Given the description of an element on the screen output the (x, y) to click on. 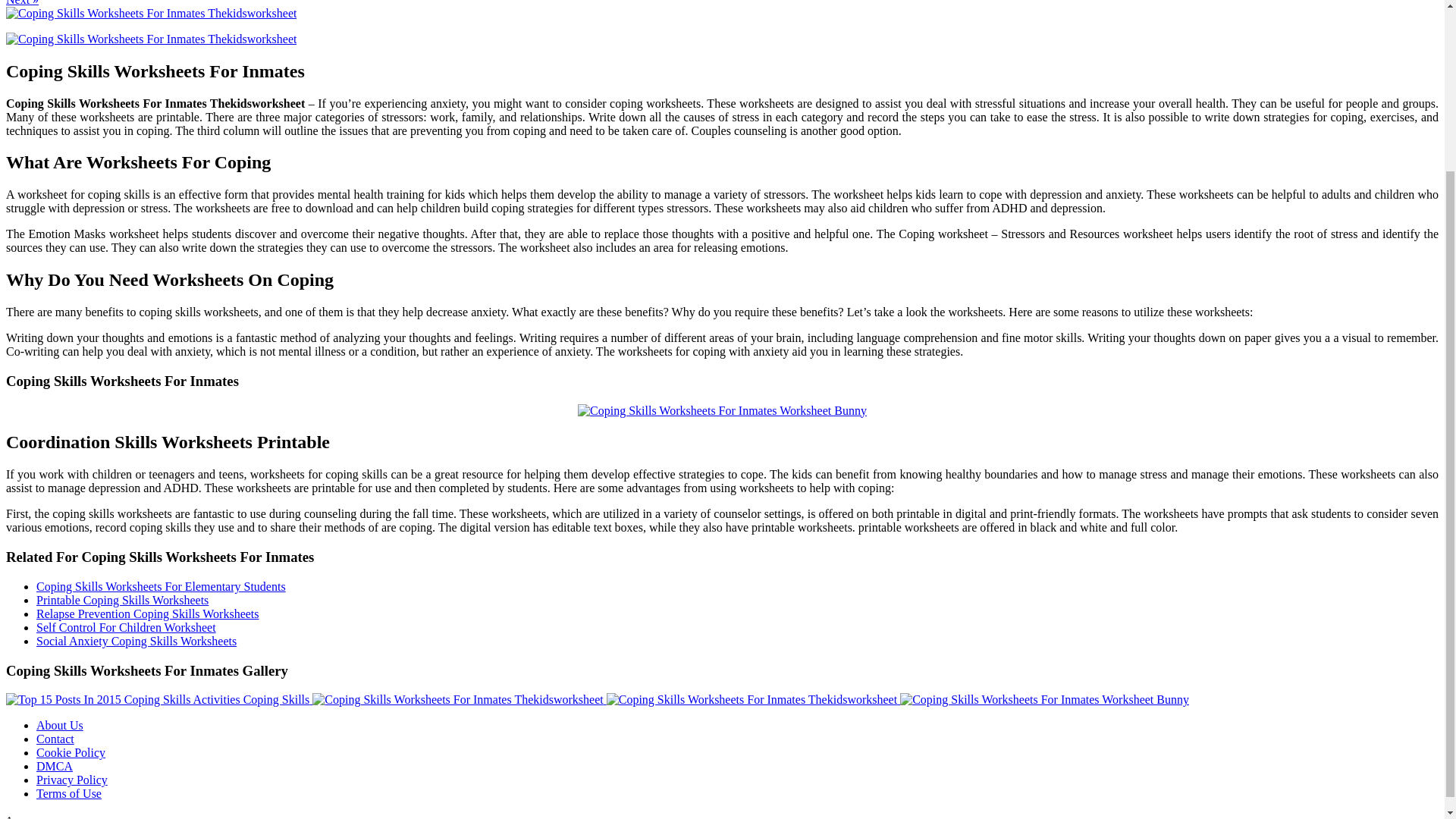
Printable Coping Skills Worksheets (122, 599)
About Us (59, 725)
Coping Skills Worksheets For Inmates Thekidsworksheet (151, 12)
Coping Skills Worksheets For Elementary Students (160, 585)
Top 15 Posts In 2015 Coping Skills Activities Coping Skills (156, 699)
coping skills worksheets for inmates thekidsworksheet 1 (151, 38)
Coping Skills Worksheets For Inmates Thekidsworksheet (751, 699)
Contact (55, 738)
Terms of Use (68, 793)
Coping Skills Worksheets For Inmates Thekidsworksheet (457, 699)
Coping Skills Worksheets For Inmates Thekidsworksheet (753, 698)
Relapse Prevention Coping Skills Worksheets (147, 613)
Top 15 Posts In 2015 Coping Skills Activities Coping Skills (159, 698)
Privacy Policy (71, 779)
Self Control For Children Worksheet (125, 626)
